Given the description of an element on the screen output the (x, y) to click on. 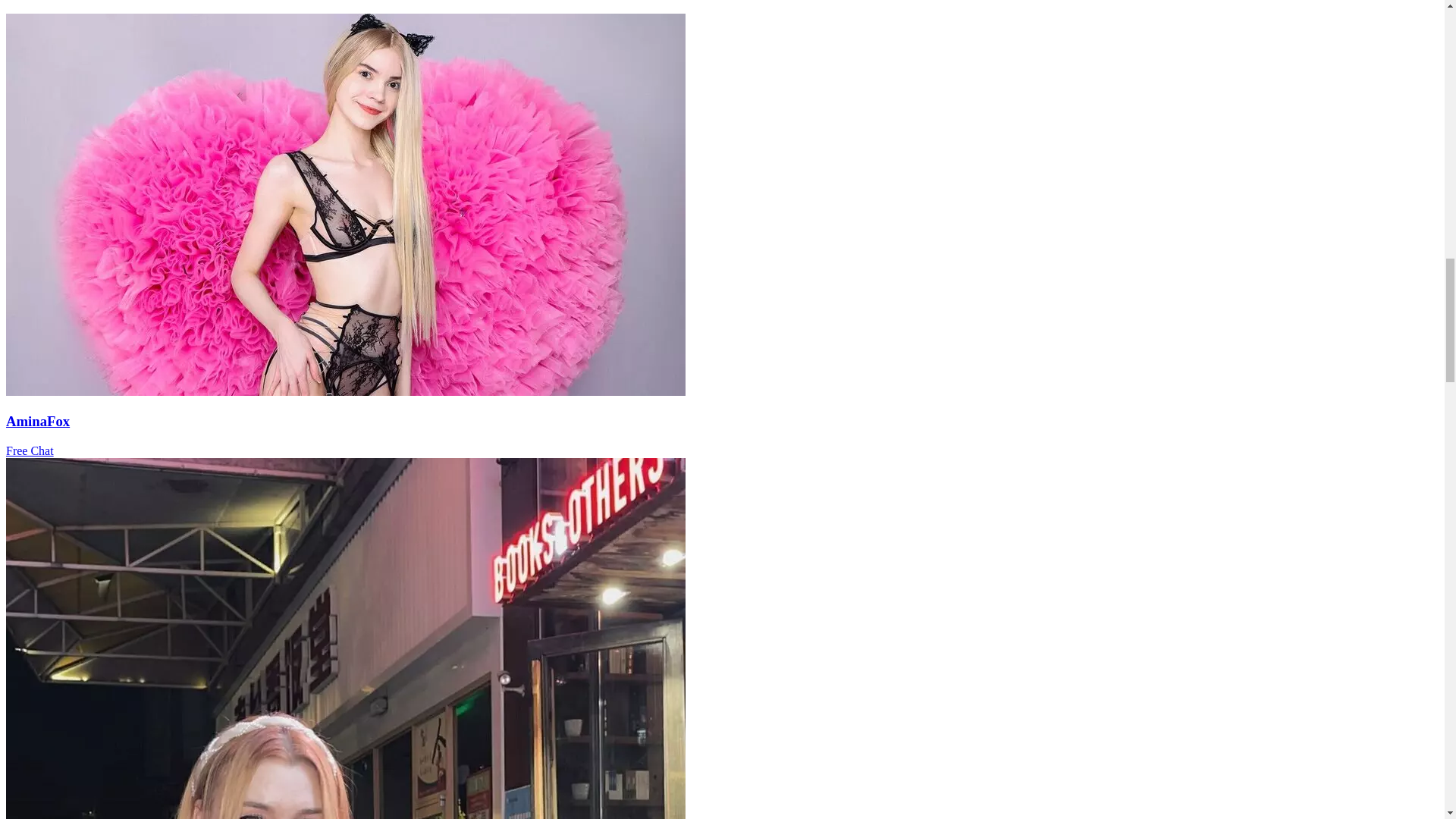
Live Sex Chat with AminaFox (345, 391)
